Given the description of an element on the screen output the (x, y) to click on. 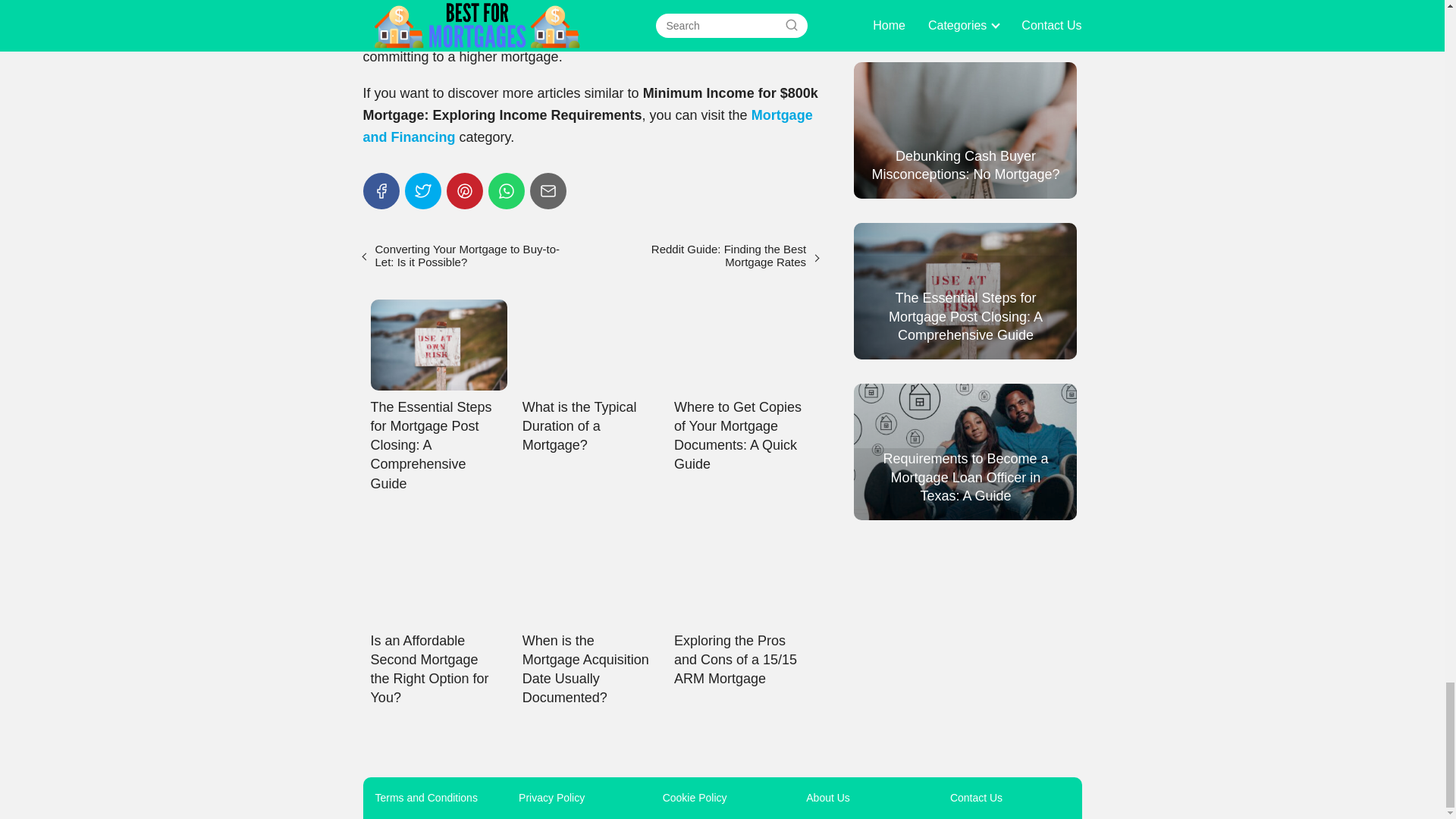
Mortgage and Financing (587, 125)
